Given the description of an element on the screen output the (x, y) to click on. 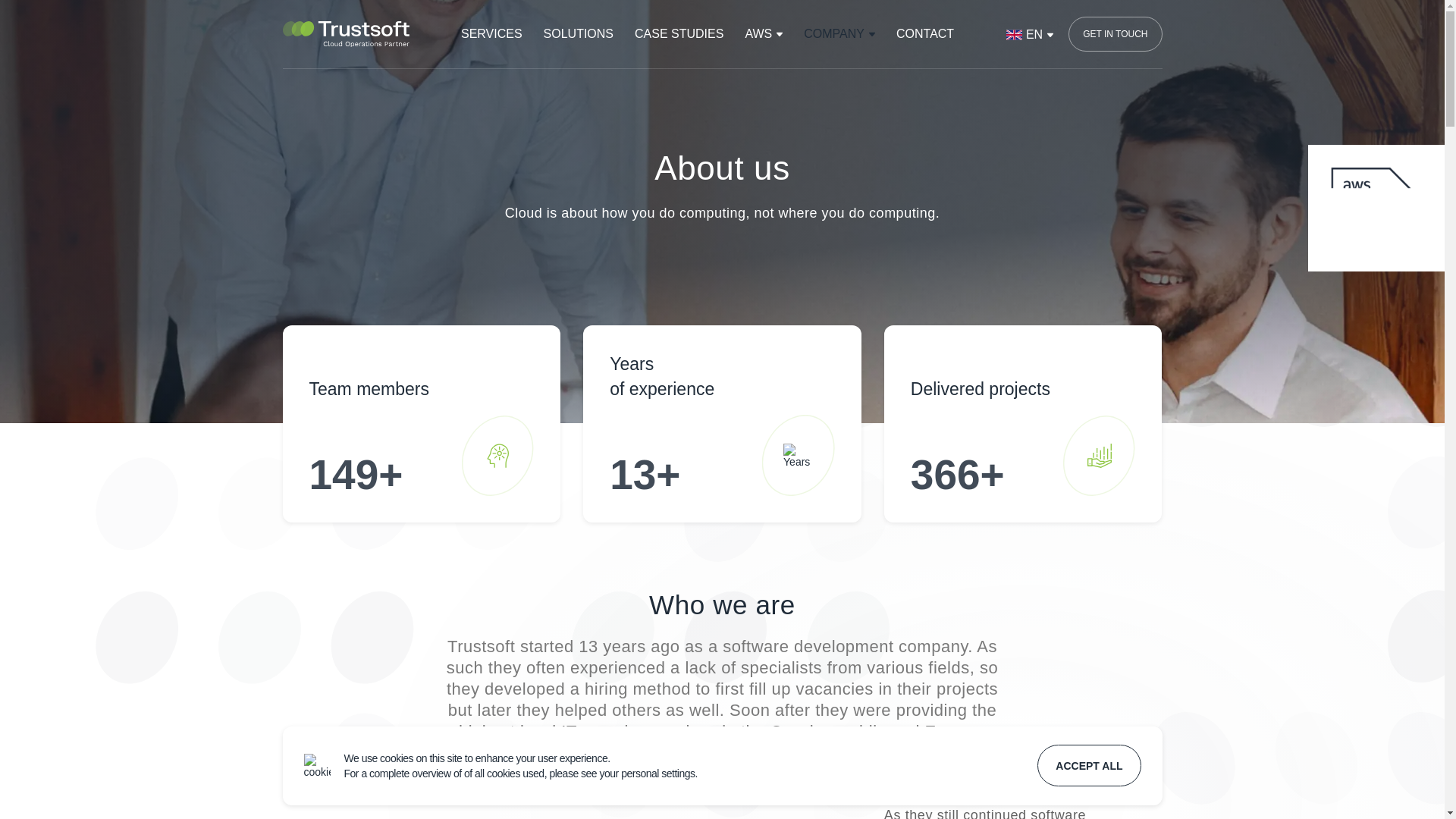
GET IN TOUCH (1114, 33)
CONTACT (924, 33)
SERVICES (491, 33)
EN (1024, 34)
CASE STUDIES (678, 33)
SOLUTIONS (577, 33)
AWS (763, 33)
COMPANY (839, 33)
